Given the description of an element on the screen output the (x, y) to click on. 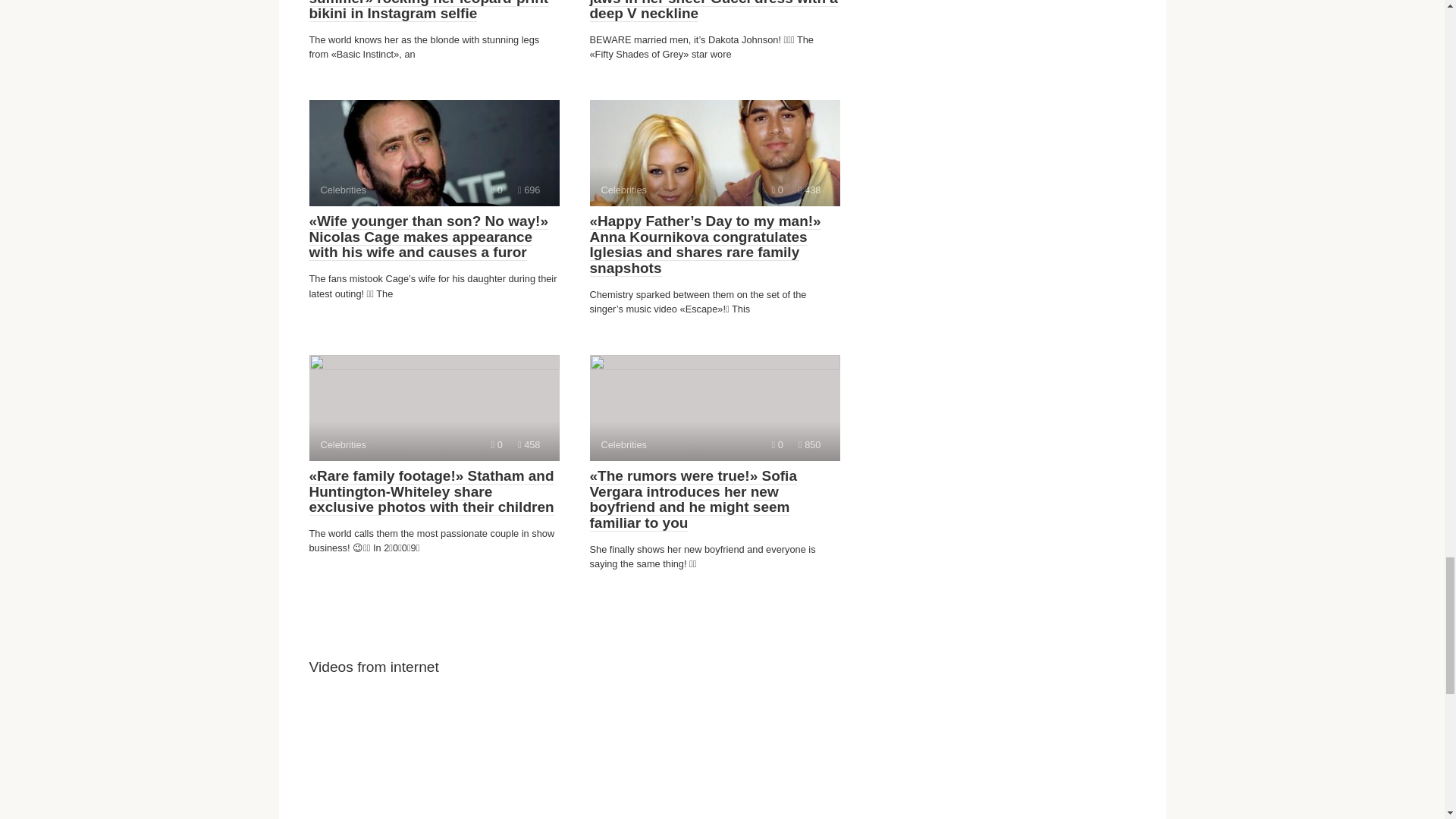
Views (433, 407)
Comments (714, 407)
